Given the description of an element on the screen output the (x, y) to click on. 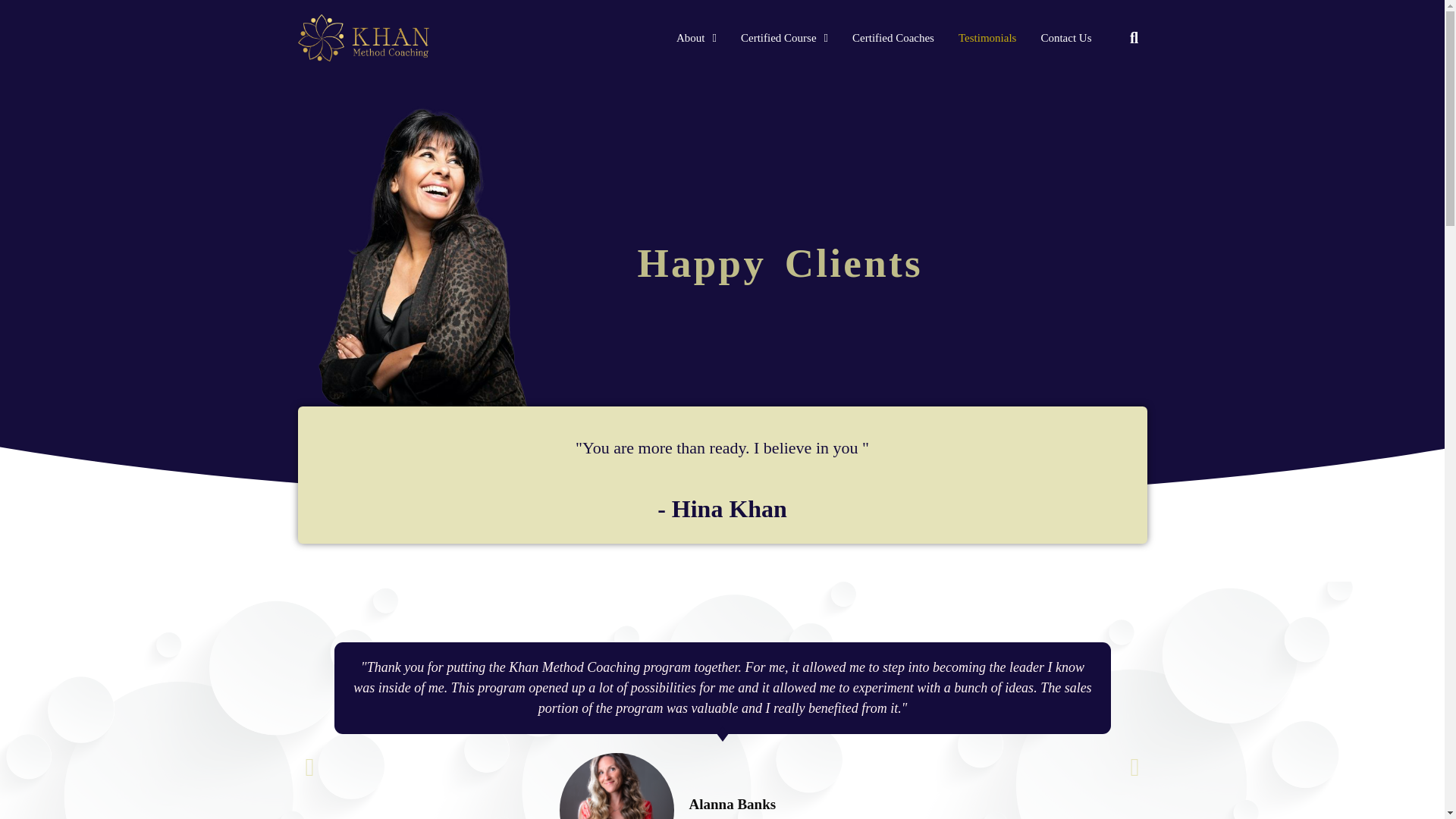
Contact Us (1065, 37)
Certified Course (784, 37)
Testimonials (986, 37)
Certified Coaches (893, 37)
About (696, 37)
